Given the description of an element on the screen output the (x, y) to click on. 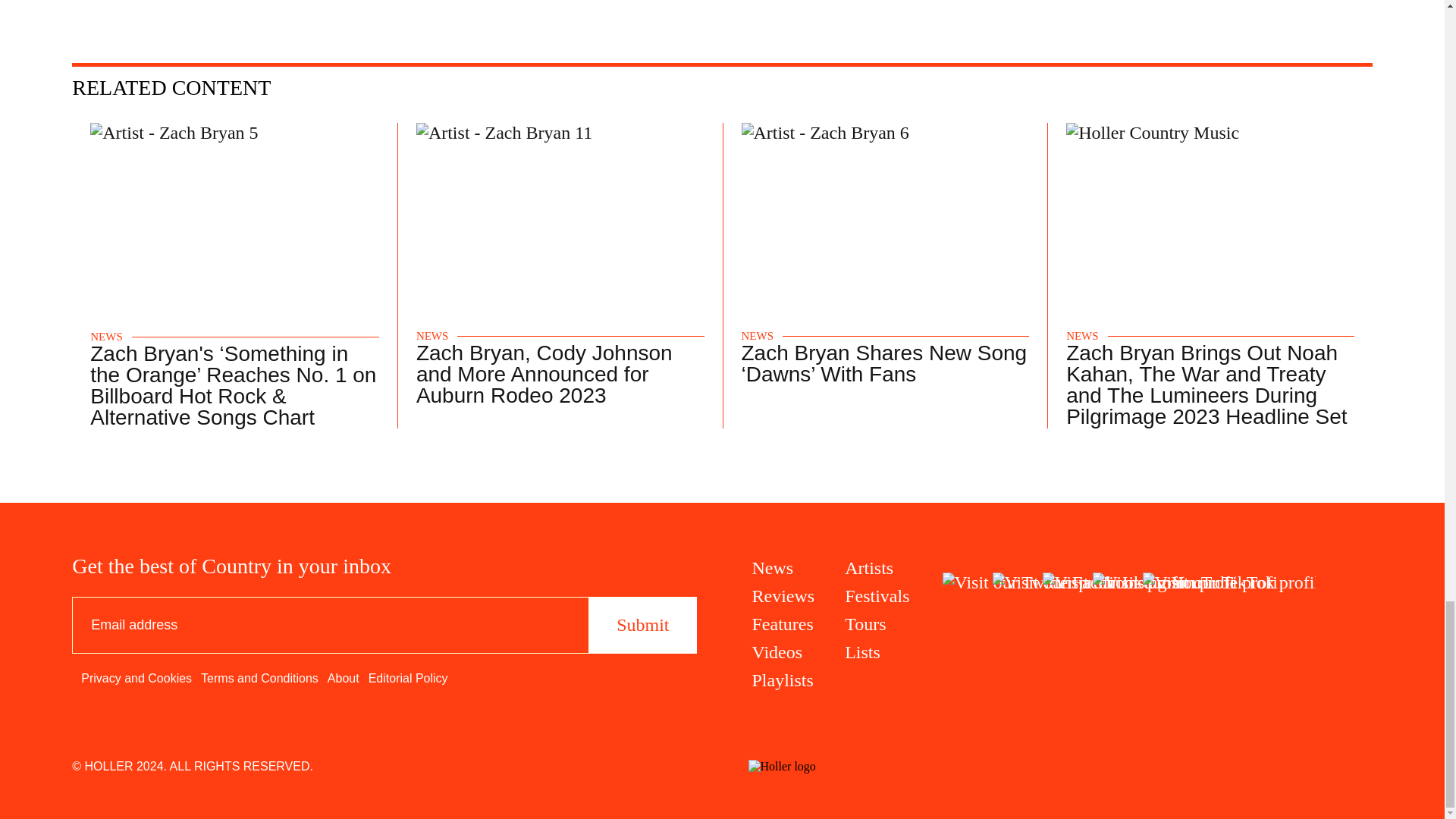
Terms and Conditions (259, 678)
Editorial Policy (408, 678)
Submit (642, 625)
Privacy and Cookies (136, 678)
NEWS (432, 336)
NEWS (757, 336)
About (343, 678)
NEWS (1082, 336)
NEWS (106, 336)
